Given the description of an element on the screen output the (x, y) to click on. 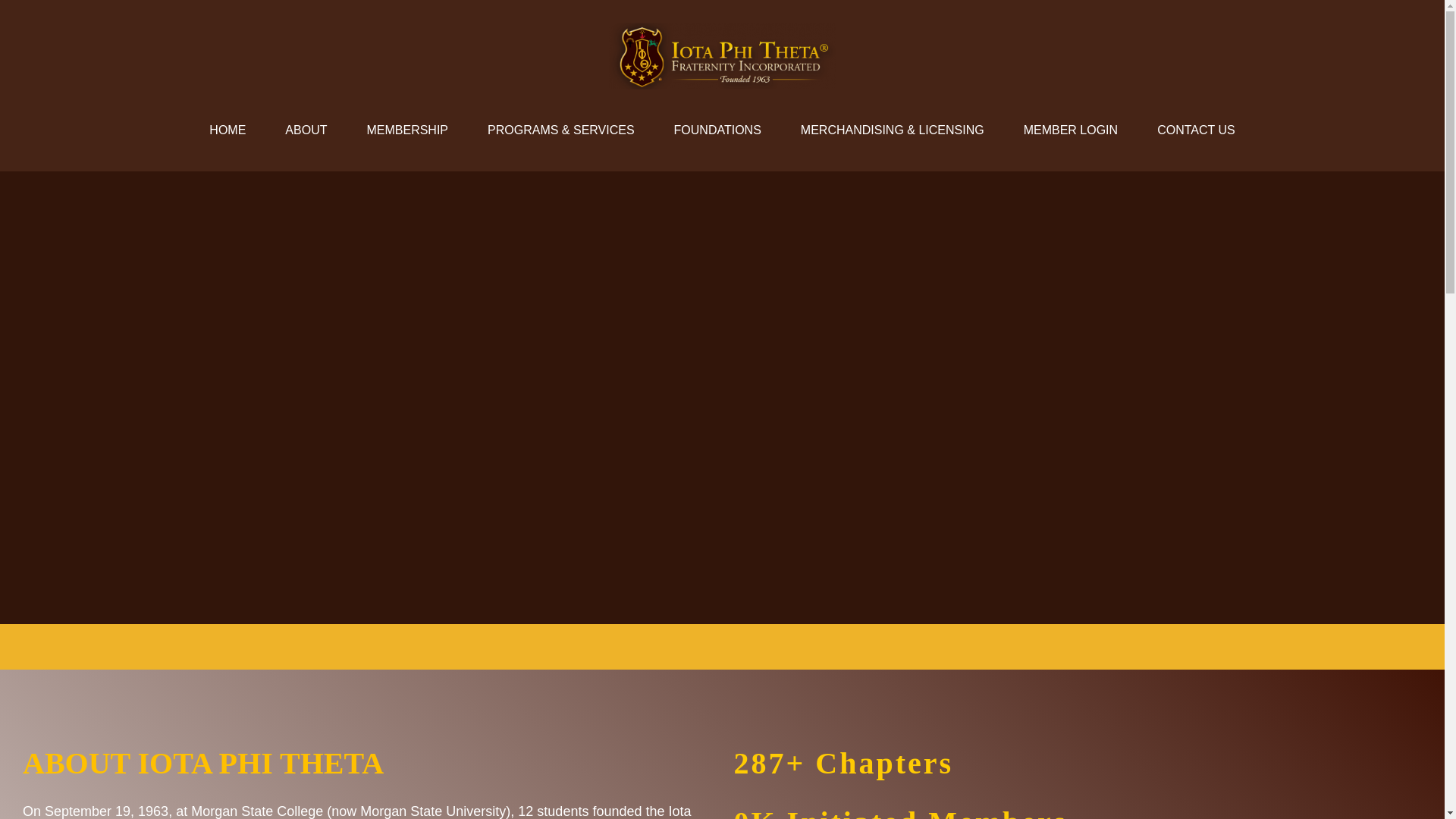
ABOUT (305, 130)
MEMBERSHIP (406, 130)
CONTACT US (1196, 130)
HOME (226, 130)
MEMBER LOGIN (1070, 130)
FOUNDATIONS (716, 130)
